Given the description of an element on the screen output the (x, y) to click on. 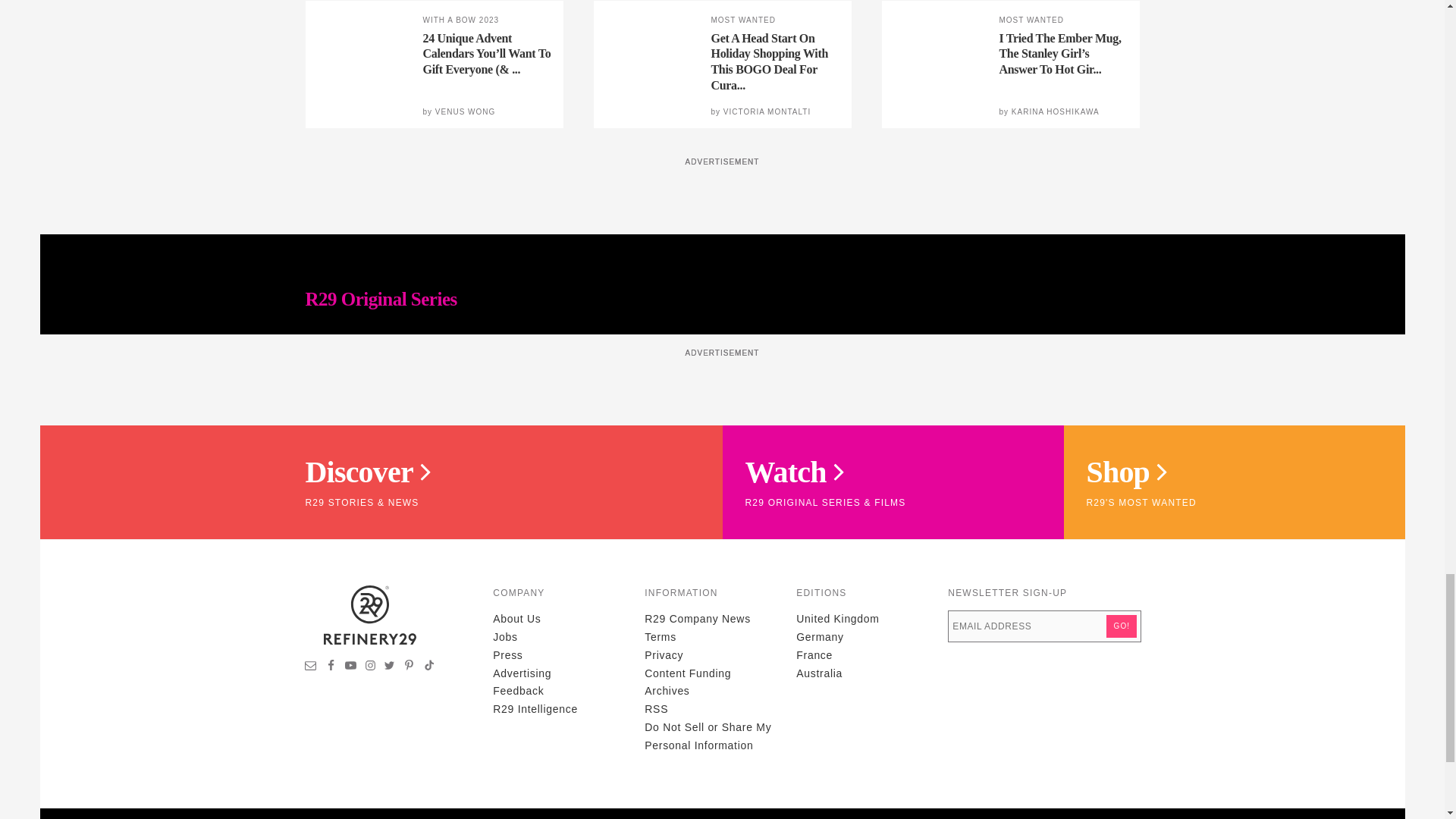
Sign up for newsletters (310, 666)
Visit Refinery29 on YouTube (350, 666)
Visit Refinery29 on TikTok (428, 666)
